Given the description of an element on the screen output the (x, y) to click on. 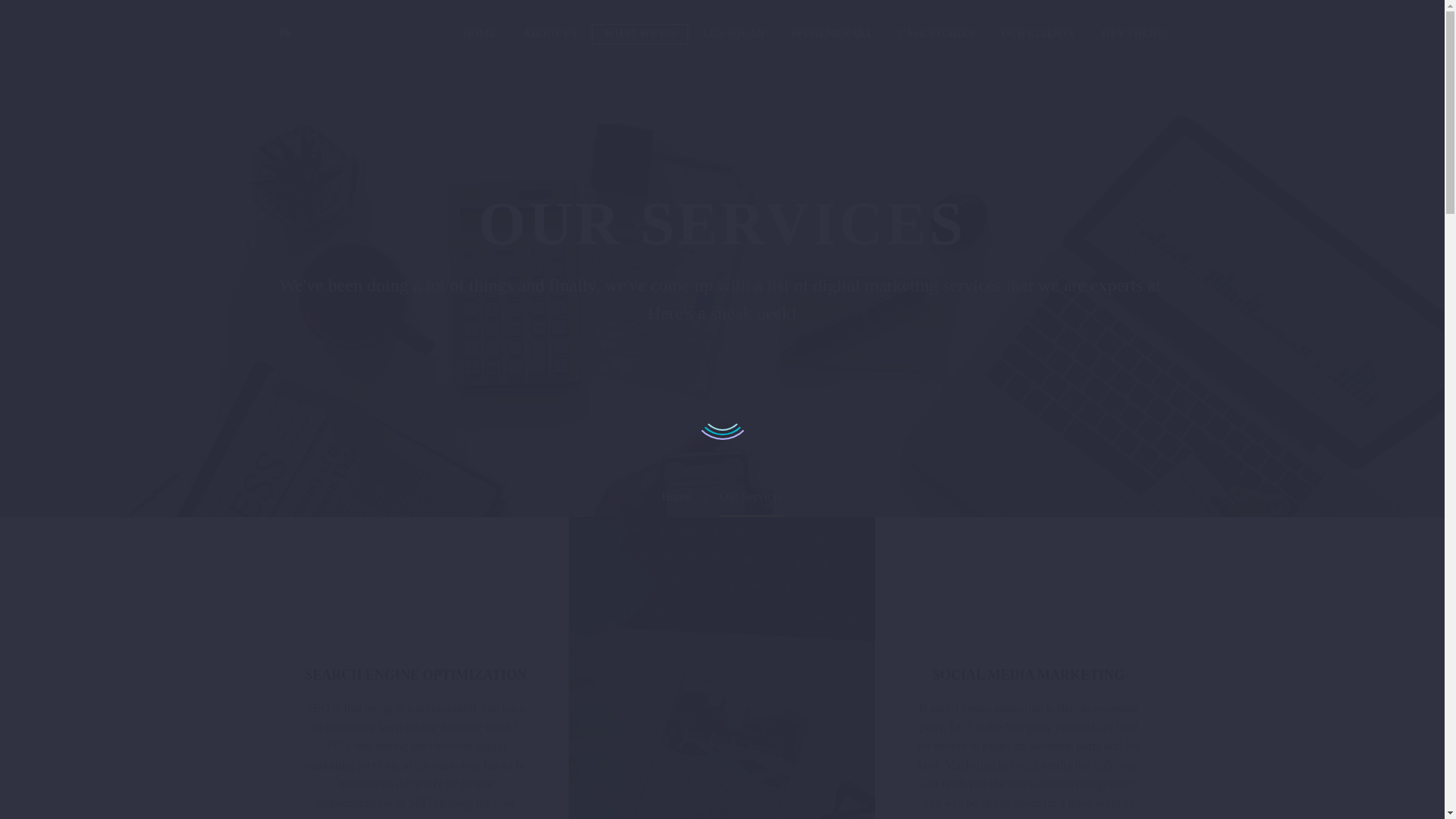
HOME (478, 34)
LGS SQUAD (733, 34)
ABOUT US (550, 34)
HEY THERE! (1134, 34)
OUR CLIENTS (1038, 34)
CASE STUDIES (935, 34)
Home (675, 495)
WHAT WE DO (639, 34)
